Given the description of an element on the screen output the (x, y) to click on. 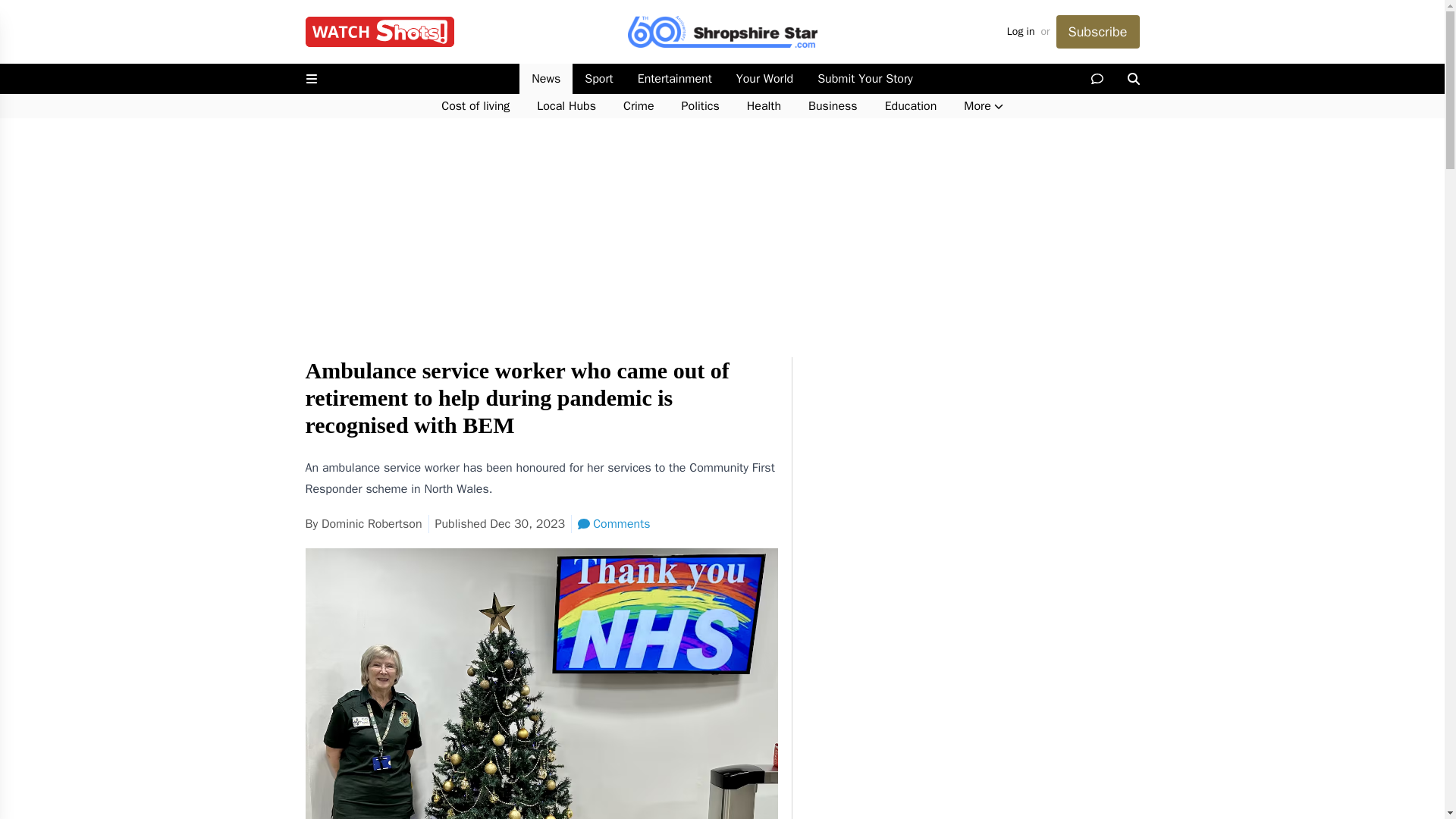
Submit Your Story (864, 78)
Politics (700, 105)
Health (764, 105)
Local Hubs (566, 105)
Log in (1021, 31)
Cost of living (475, 105)
Sport (598, 78)
Education (910, 105)
Entertainment (674, 78)
Your World (764, 78)
